Given the description of an element on the screen output the (x, y) to click on. 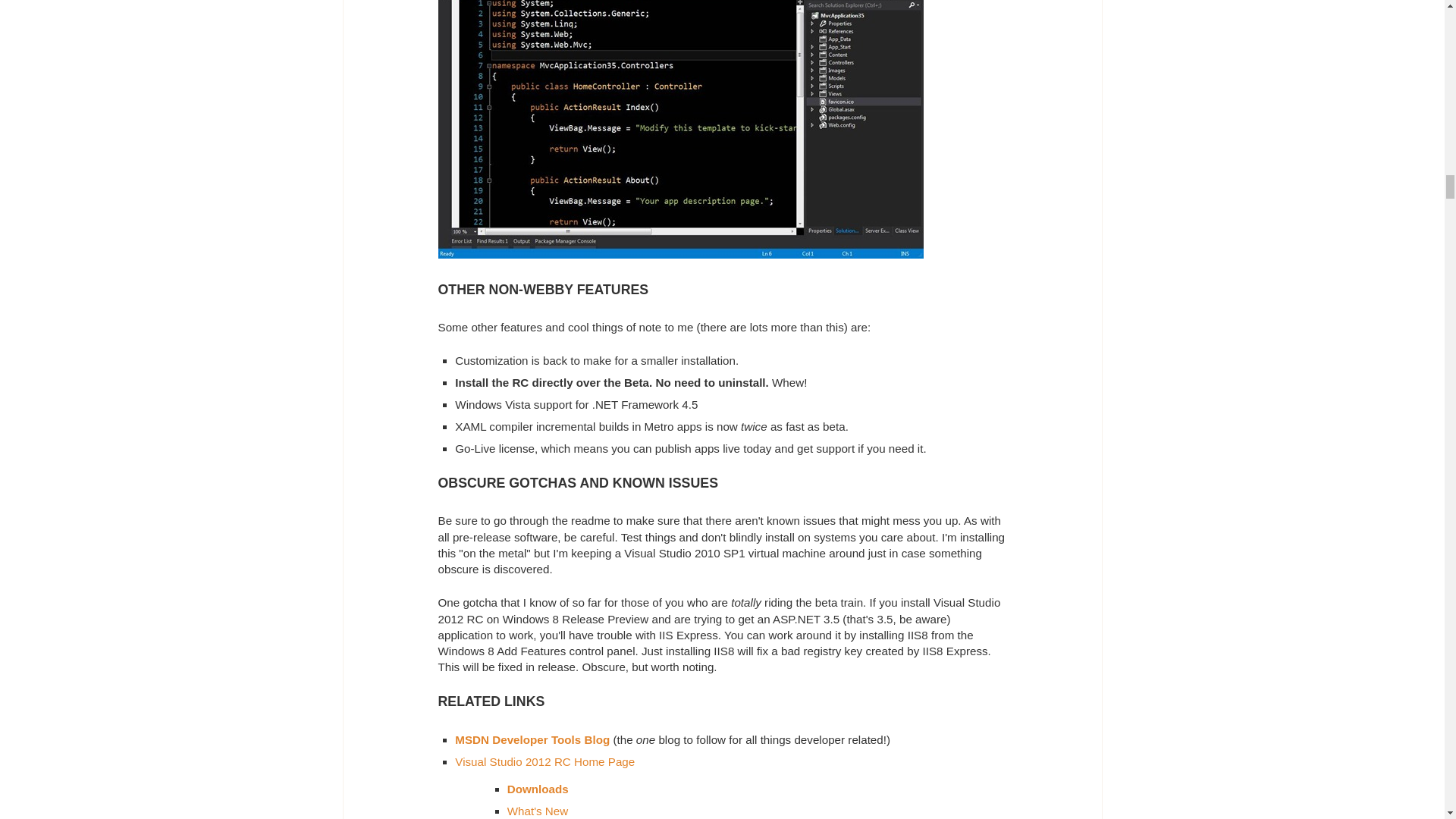
My Visual Studio Dark Theme (680, 129)
MSDN Developer Tools Blog (532, 739)
Visual Studio 2012 RC Home Page (544, 761)
Downloads (537, 788)
What's New (537, 810)
